Given the description of an element on the screen output the (x, y) to click on. 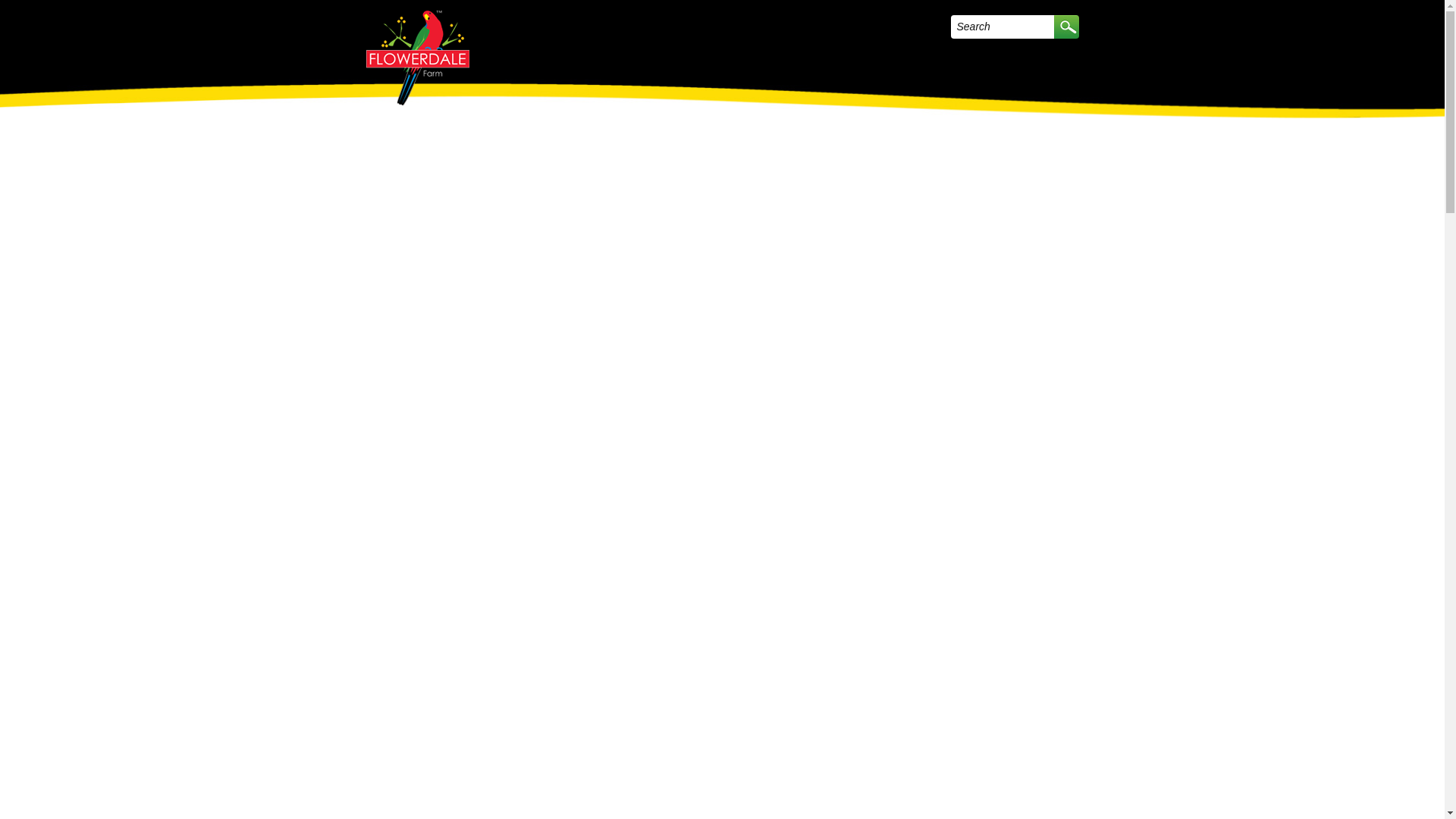
  Element type: text (1066, 26)
